Given the description of an element on the screen output the (x, y) to click on. 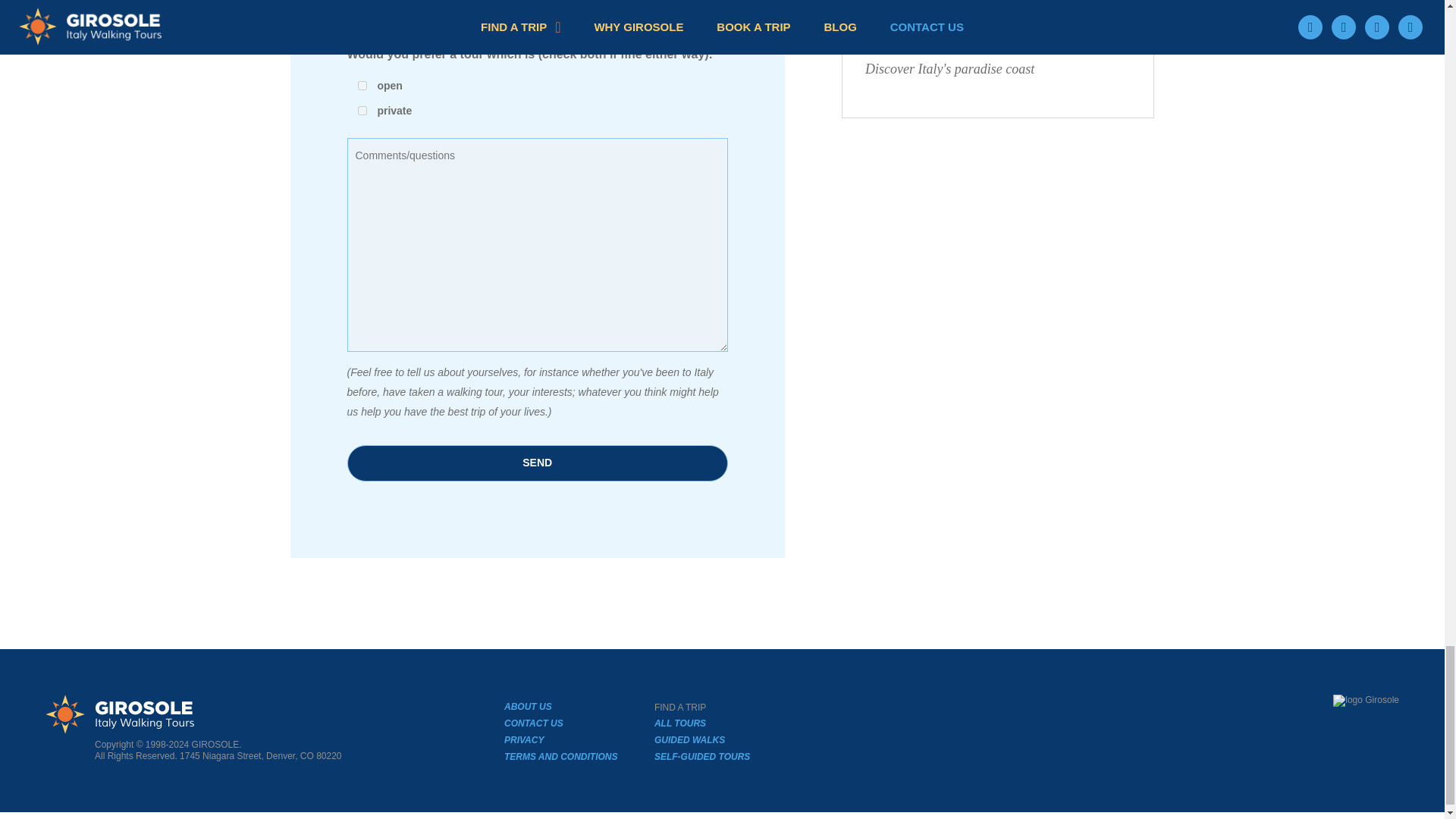
private (362, 110)
Deluxe (362, 4)
open (362, 85)
SEND (537, 463)
